Given the description of an element on the screen output the (x, y) to click on. 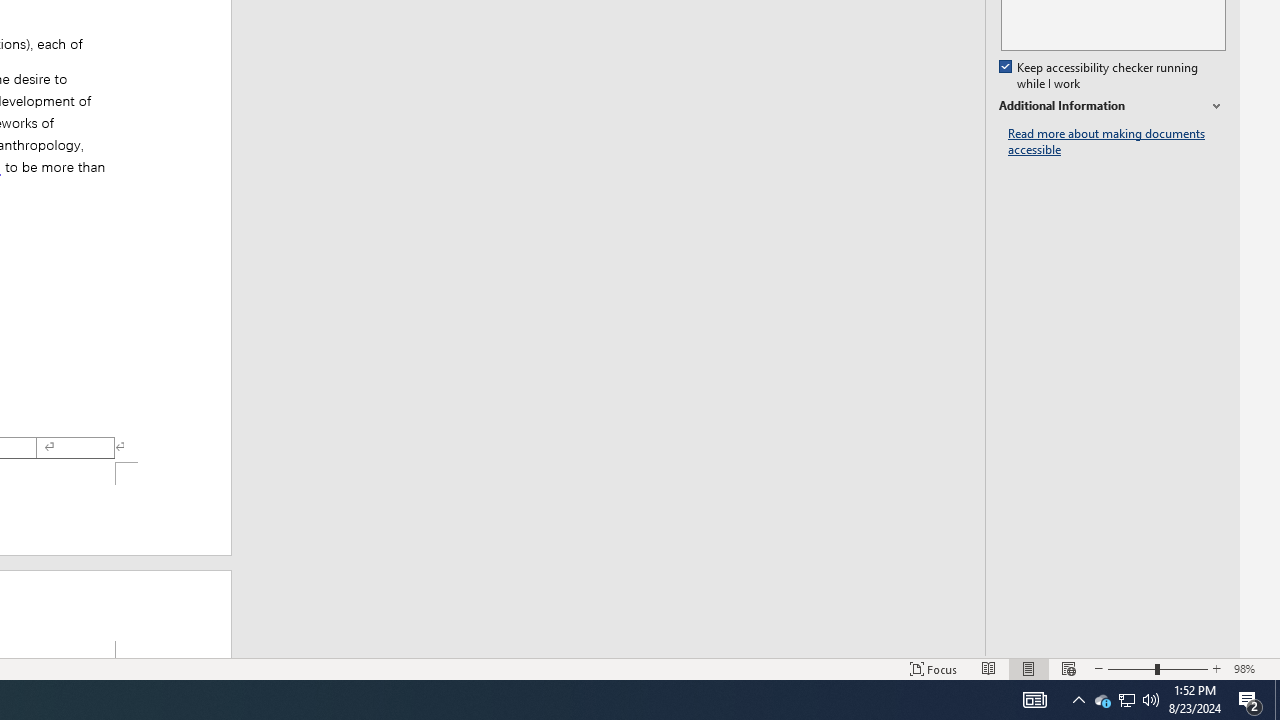
Read more about making documents accessible (1117, 142)
Additional Information (1112, 106)
Keep accessibility checker running while I work (1099, 76)
